Given the description of an element on the screen output the (x, y) to click on. 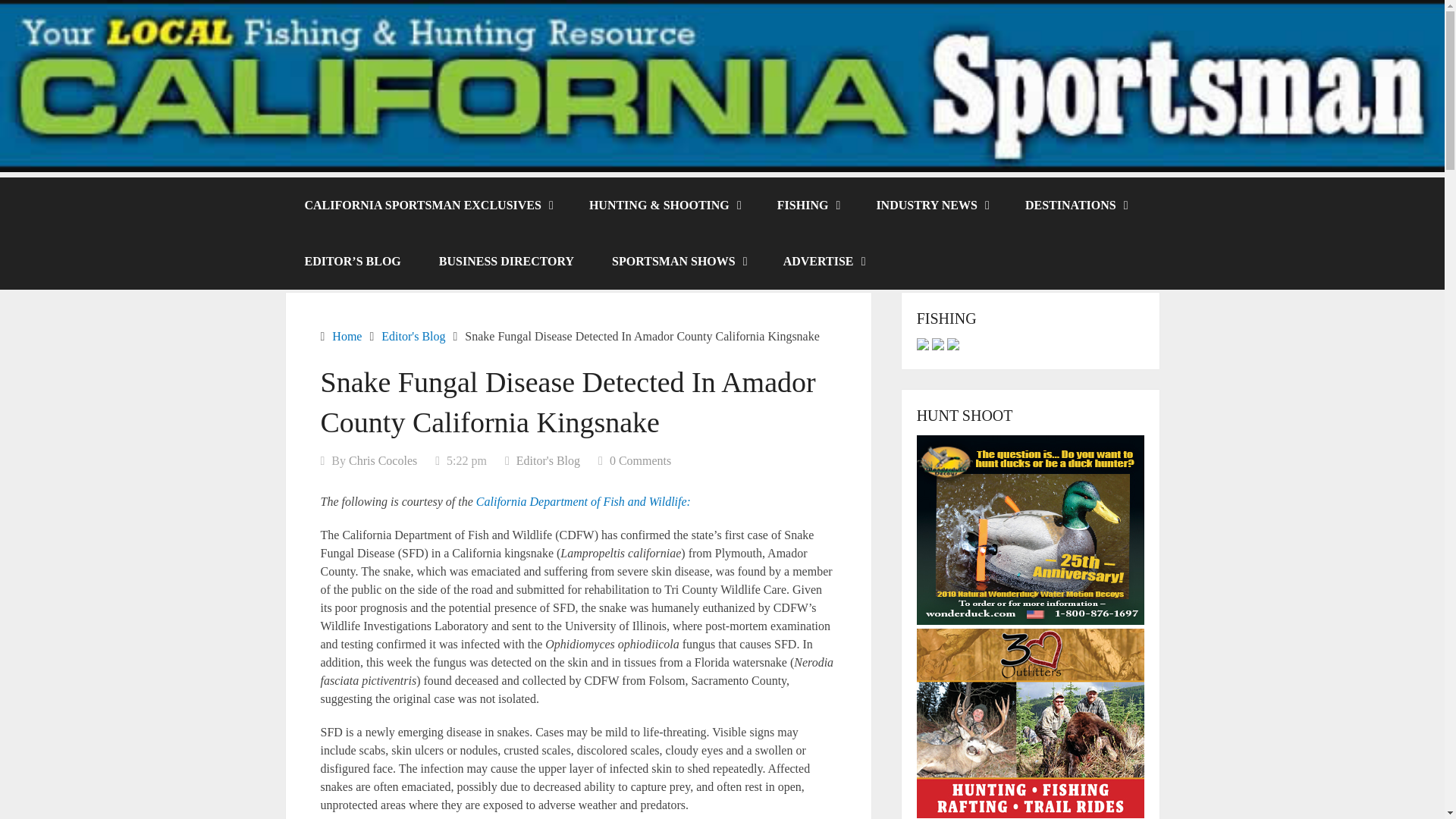
CALIFORNIA SPORTSMAN EXCLUSIVES (427, 205)
Posts by Chris Cocoles (382, 460)
ADVERTISE (823, 261)
Editor's Blog (547, 460)
SPORTSMAN SHOWS (678, 261)
Home (346, 336)
DESTINATIONS (1075, 205)
0 Comments (640, 460)
FISHING (807, 205)
INDUSTRY NEWS (931, 205)
